Given the description of an element on the screen output the (x, y) to click on. 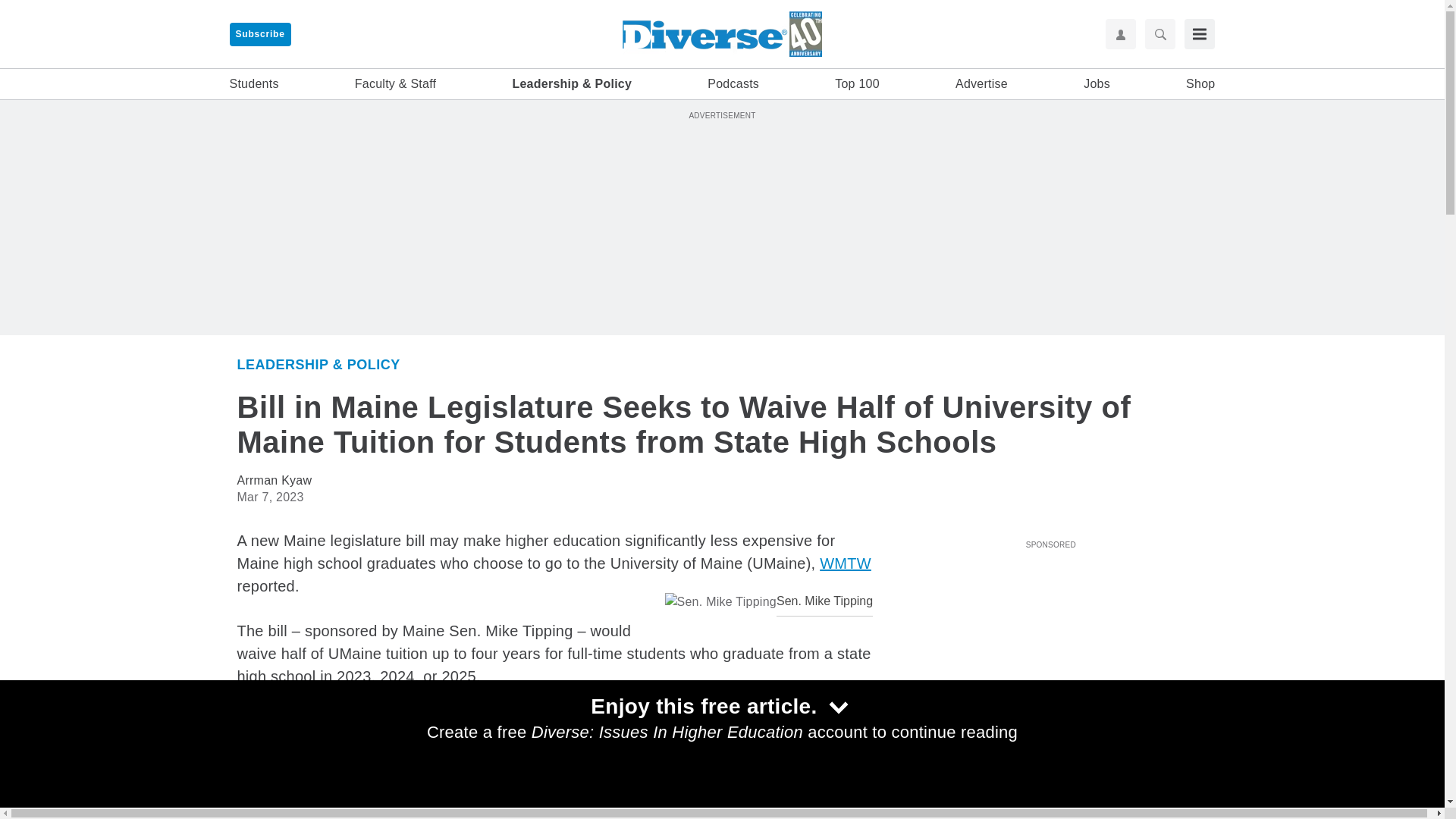
Jobs (1096, 84)
Youtube Player (1050, 640)
Students (253, 84)
Advertise (981, 84)
Subscribe (258, 33)
Top 100 (856, 84)
Podcasts (732, 84)
Shop (1200, 84)
Subscribe (258, 33)
